Given the description of an element on the screen output the (x, y) to click on. 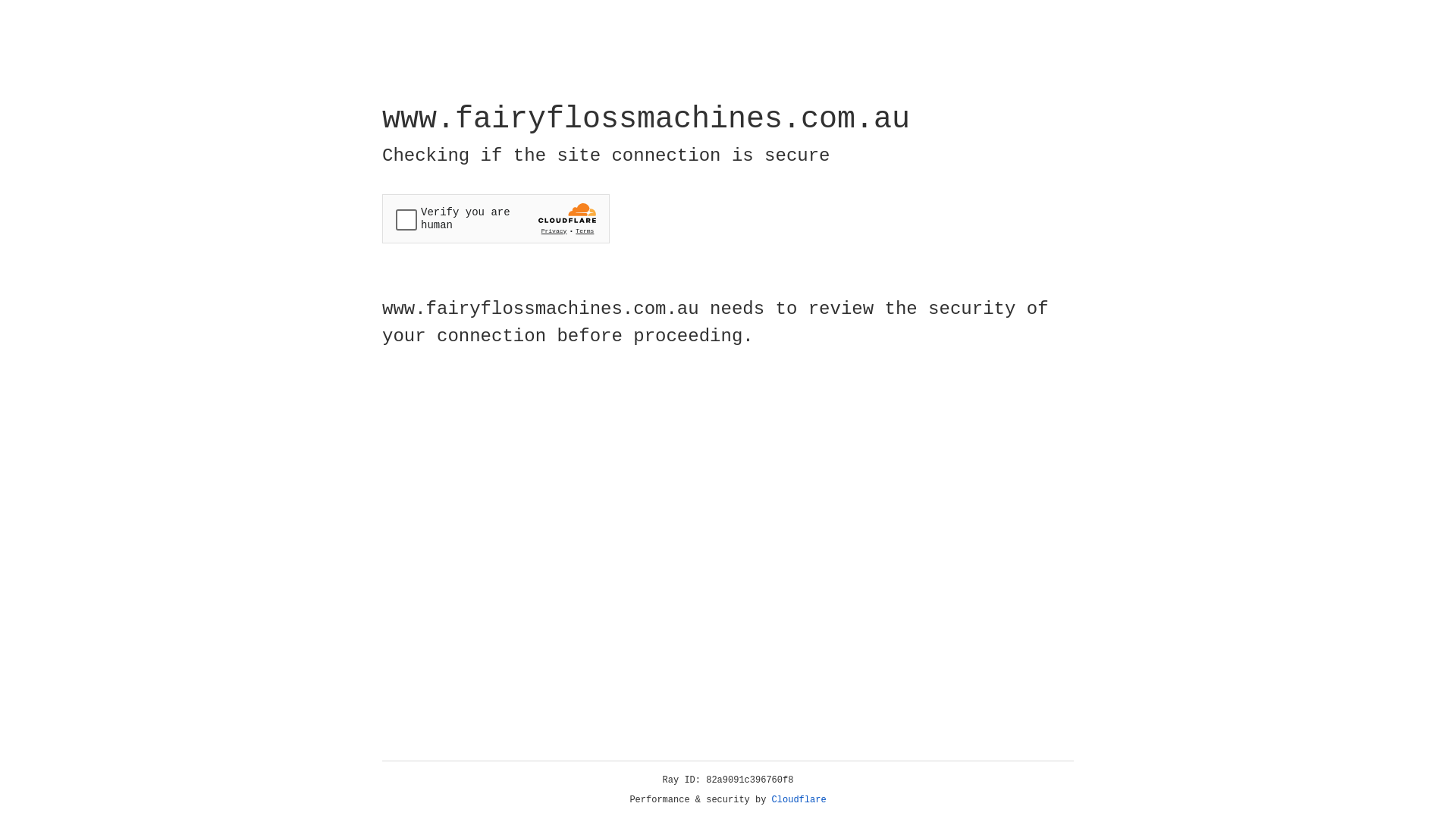
Widget containing a Cloudflare security challenge Element type: hover (495, 218)
Cloudflare Element type: text (798, 799)
